Given the description of an element on the screen output the (x, y) to click on. 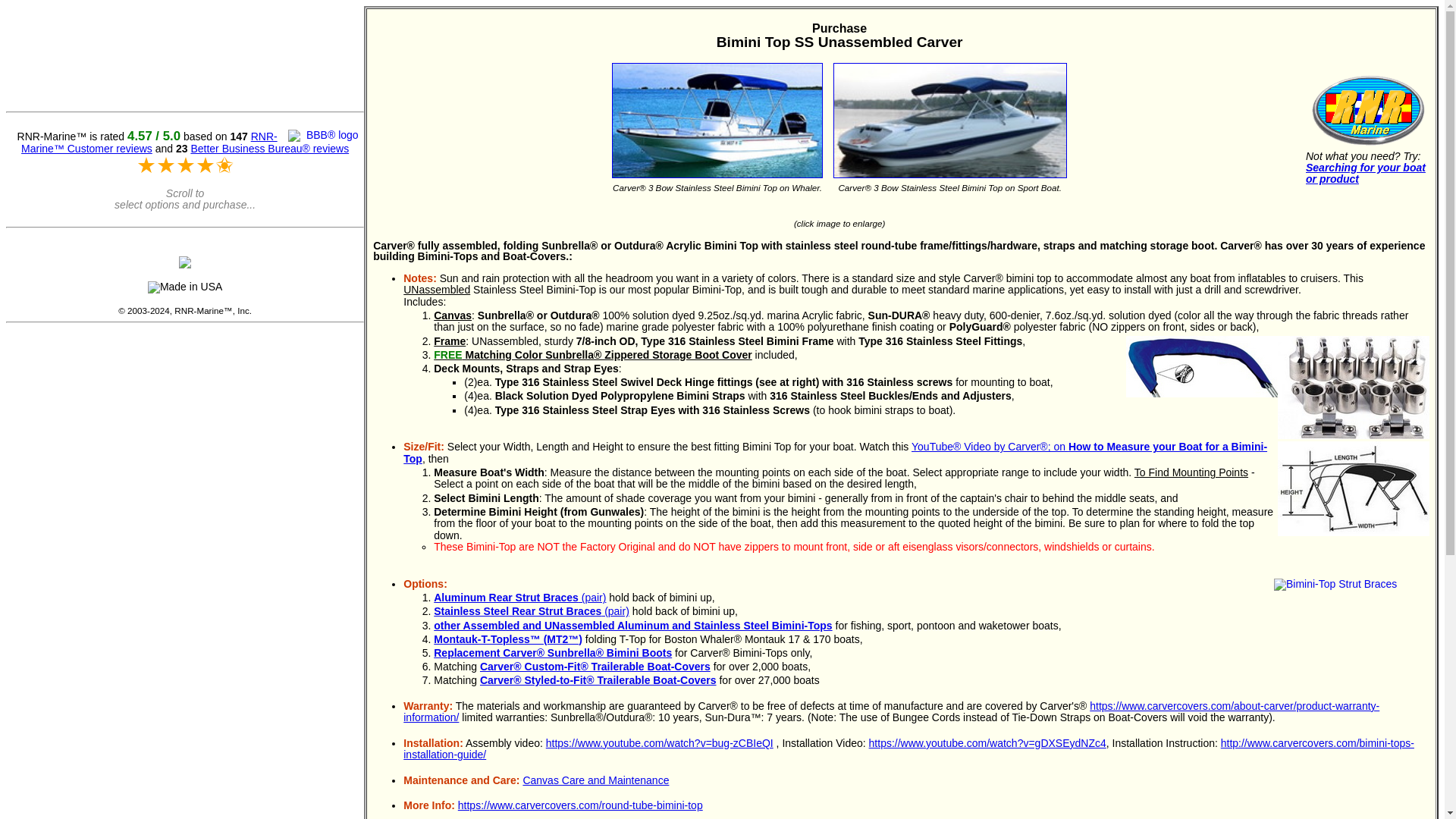
Click to Enbnlarge (1353, 488)
Searching for your boat or product (1365, 173)
Please click to read our Customer Reviews (149, 142)
title2 (949, 119)
